Given the description of an element on the screen output the (x, y) to click on. 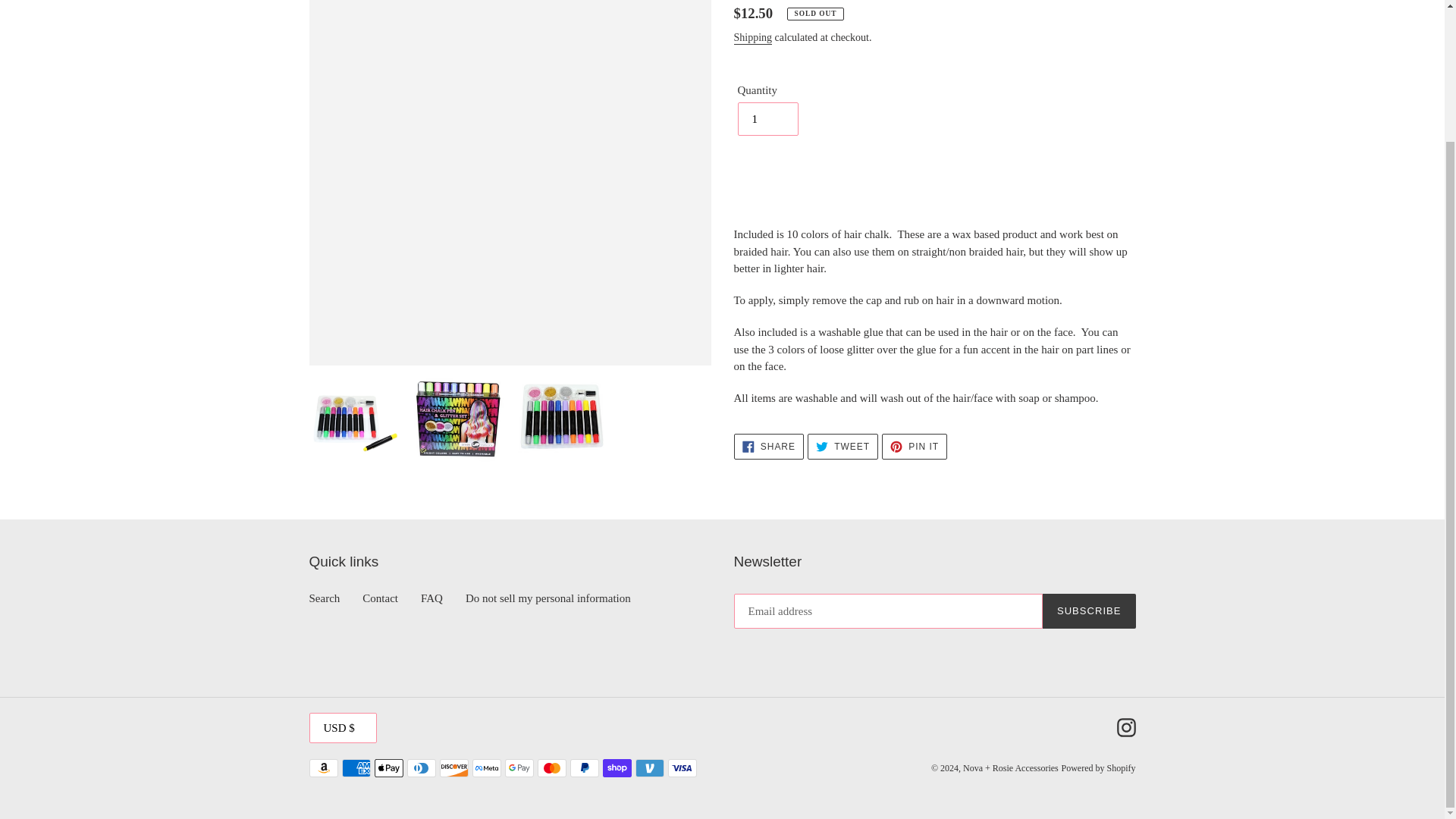
1 (766, 118)
